Given the description of an element on the screen output the (x, y) to click on. 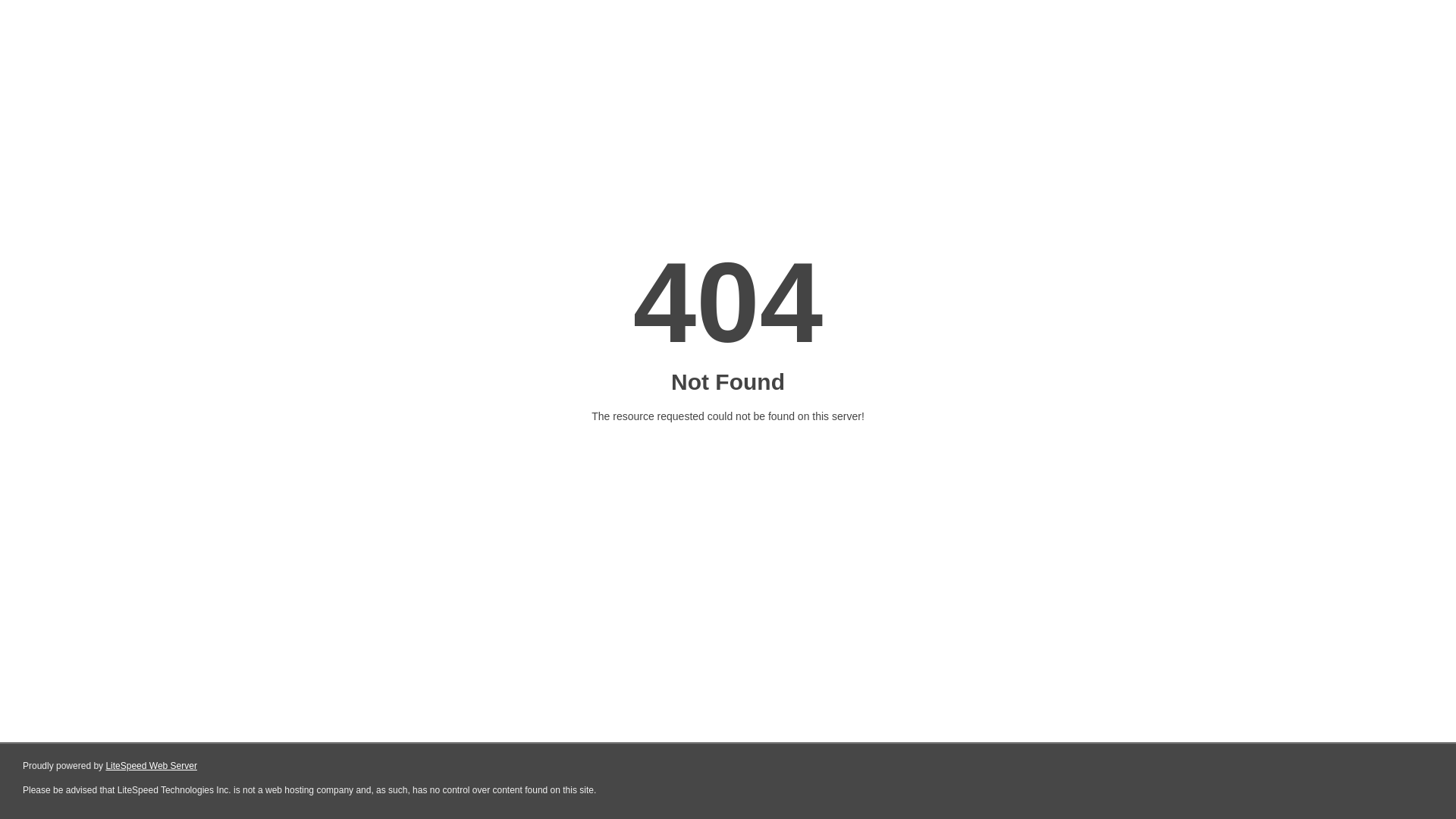
LiteSpeed Web Server Element type: text (151, 765)
